Given the description of an element on the screen output the (x, y) to click on. 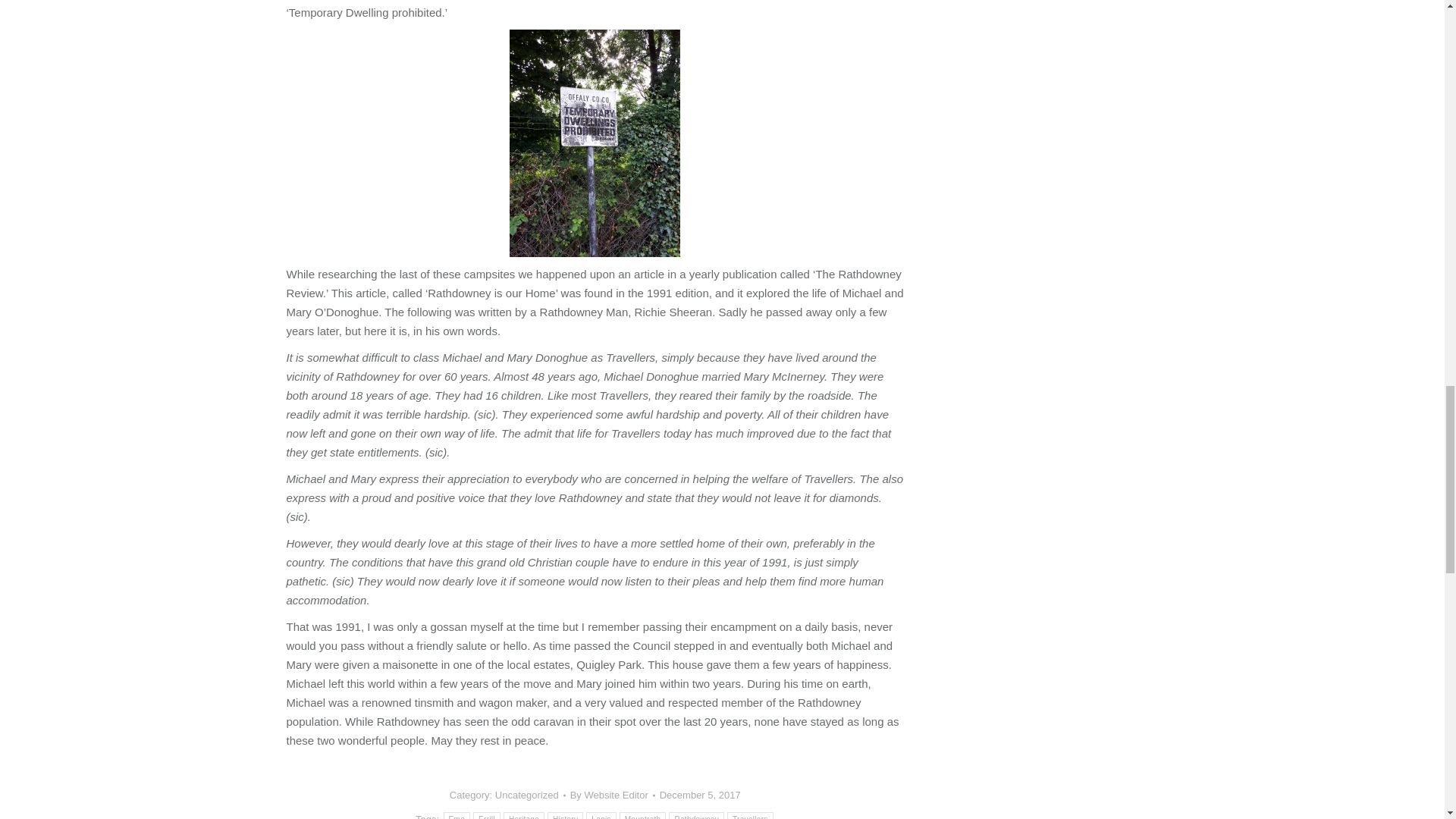
View all posts by Website Editor (612, 795)
12:57 pm (700, 795)
